Given the description of an element on the screen output the (x, y) to click on. 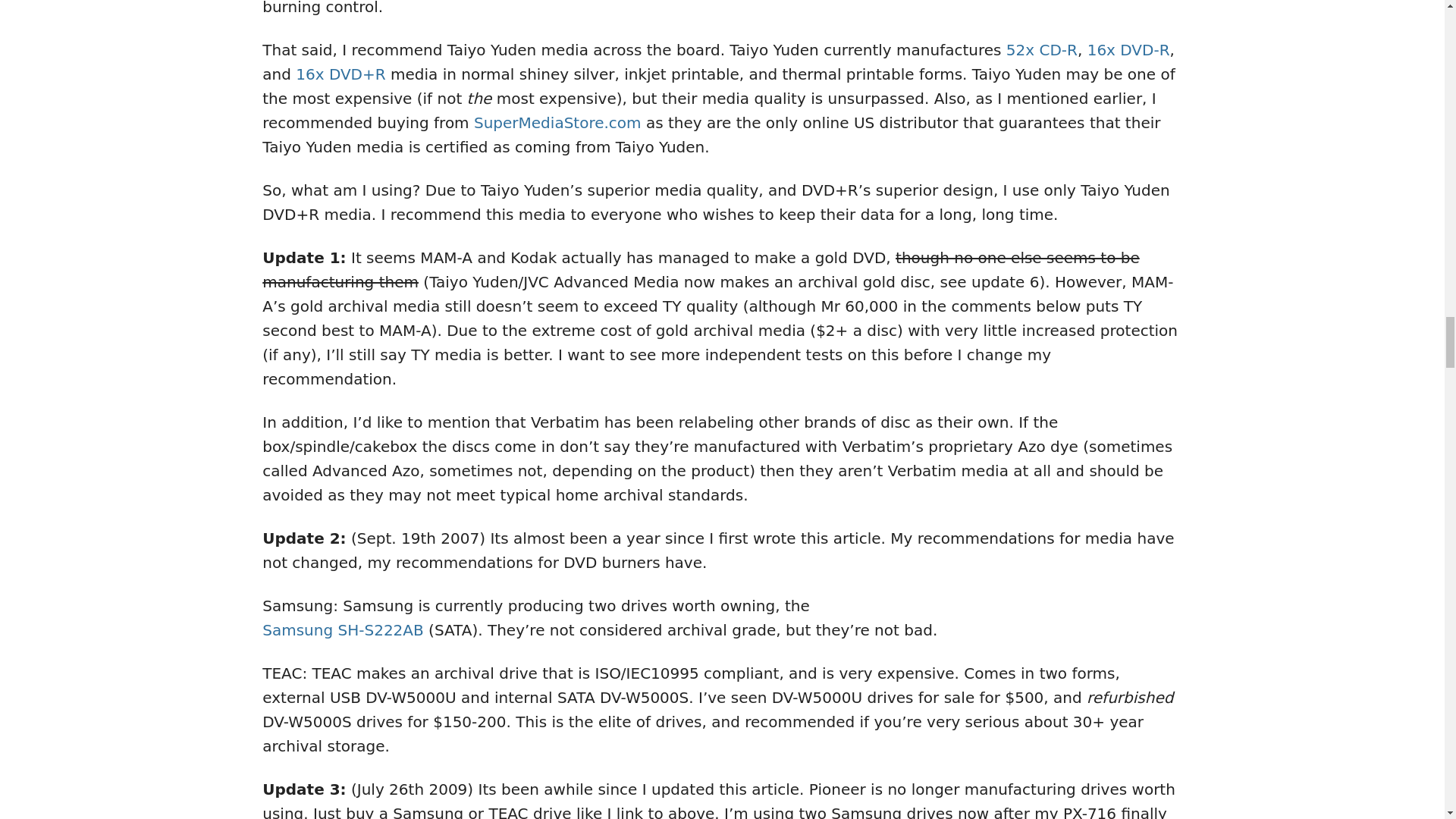
SuperMediaStore.com (558, 122)
Samsung SH-S222AB (535, 641)
52x CD-R (1041, 49)
16x DVD-R (1128, 49)
